Given the description of an element on the screen output the (x, y) to click on. 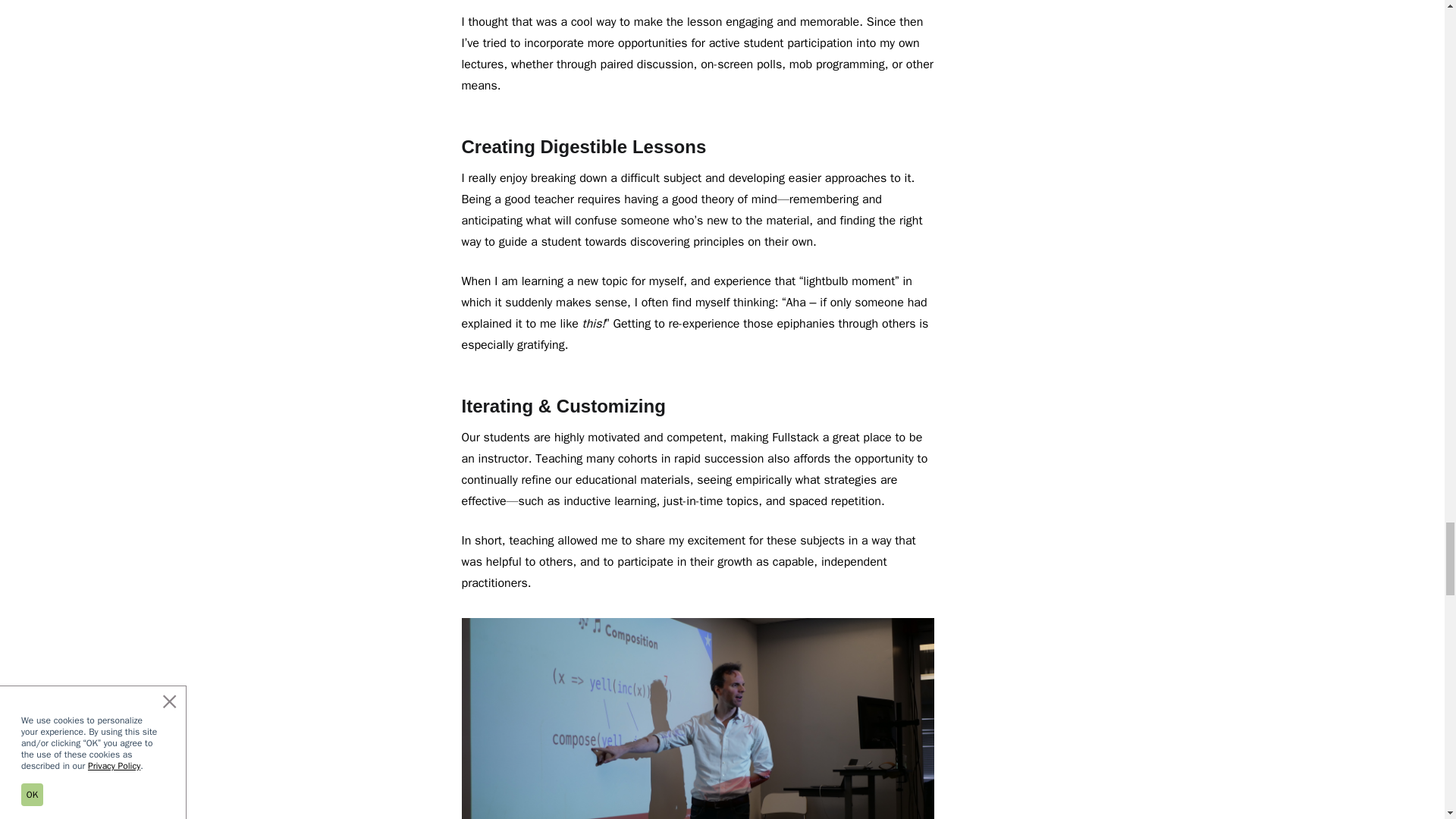
Gabriel Lebec teaching a class at Fullstack Academy (697, 718)
